Given the description of an element on the screen output the (x, y) to click on. 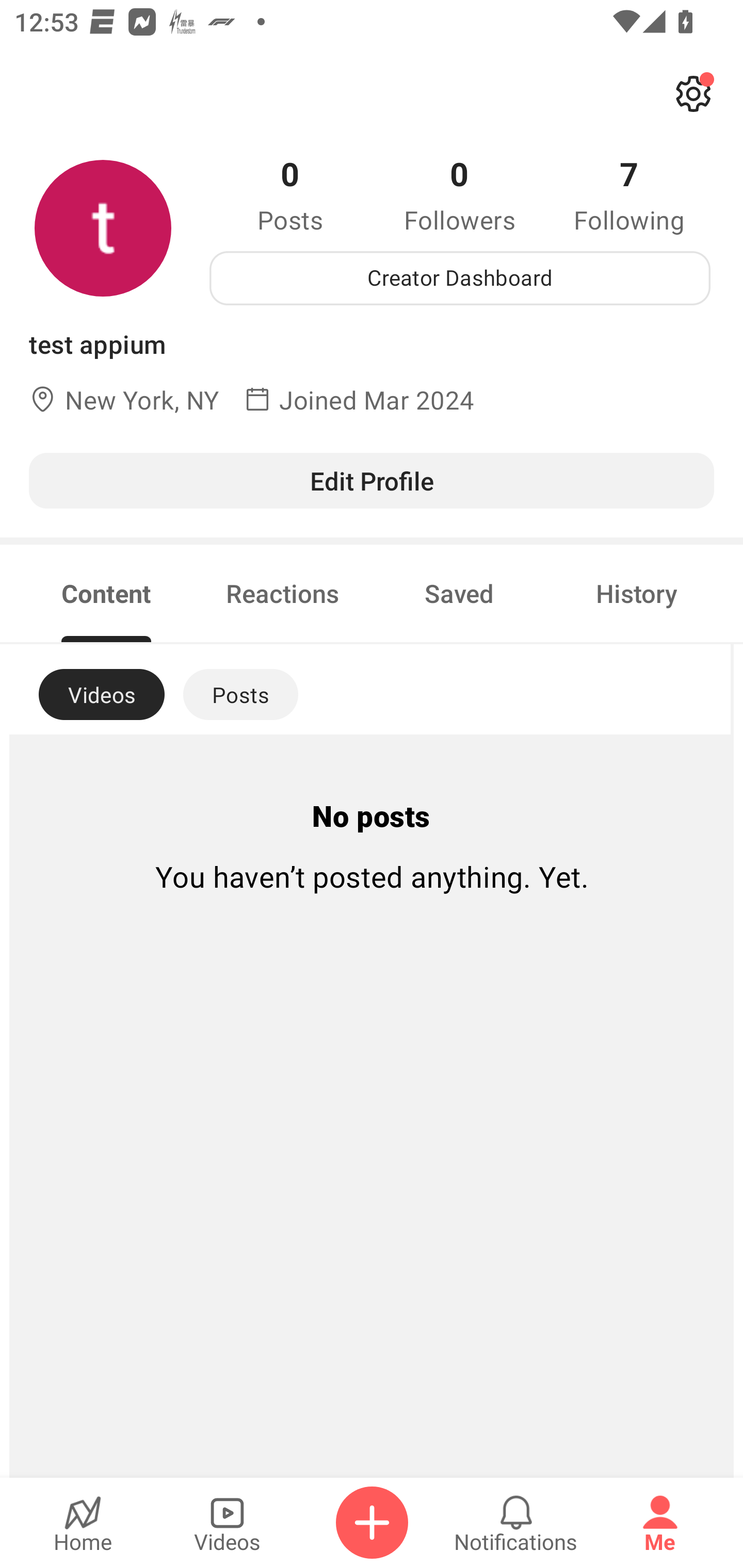
0 Followers (459, 194)
7 Following (629, 194)
Creator Dashboard (459, 277)
Edit Profile (371, 480)
Reactions (282, 593)
Saved (459, 593)
History (636, 593)
Posts (240, 694)
Home (83, 1522)
Videos (227, 1522)
Notifications (516, 1522)
